Given the description of an element on the screen output the (x, y) to click on. 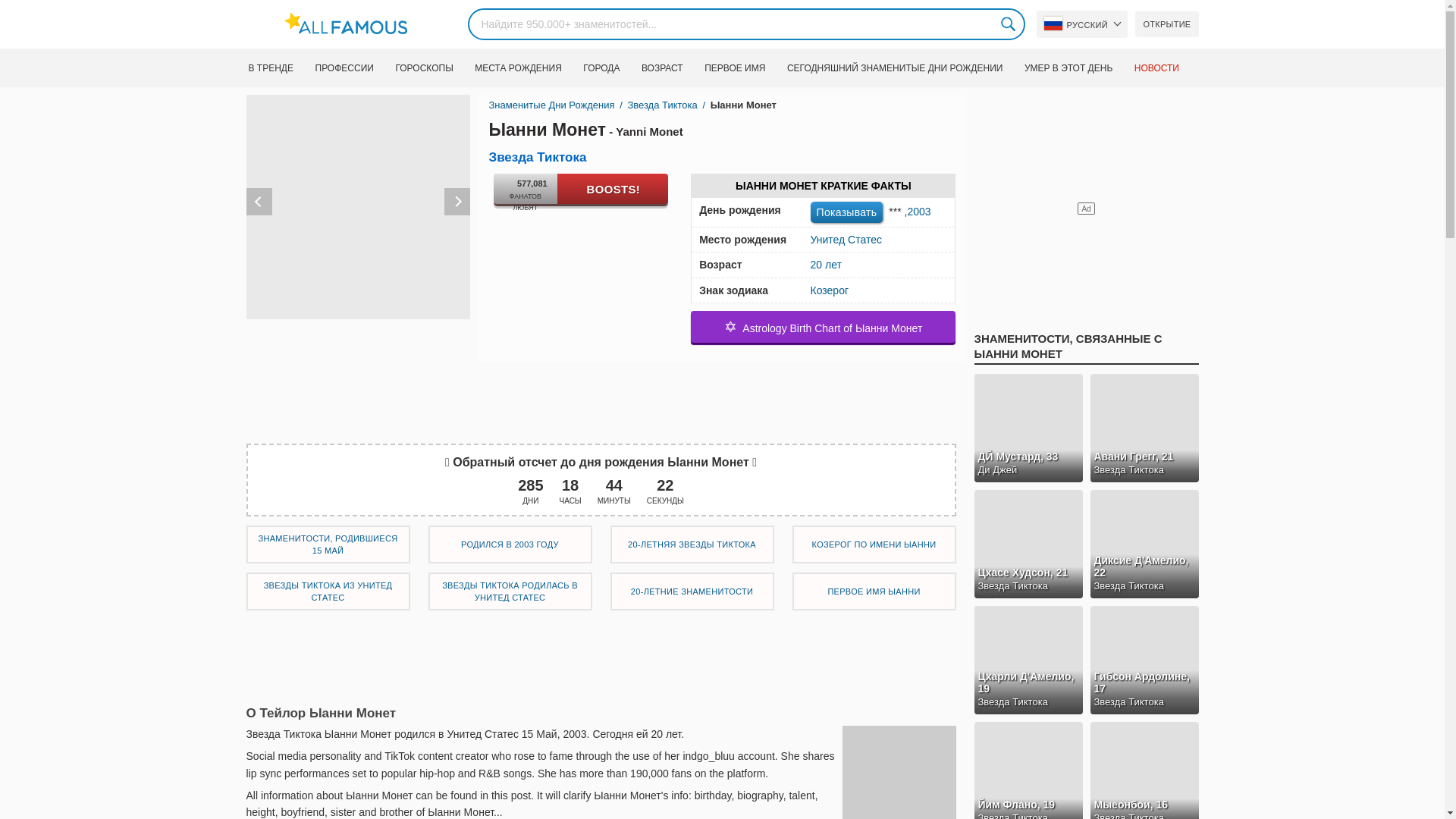
Advertisement (600, 653)
Advertisement (600, 395)
SEARCH (1008, 24)
AllFamous.org (353, 23)
